Given the description of an element on the screen output the (x, y) to click on. 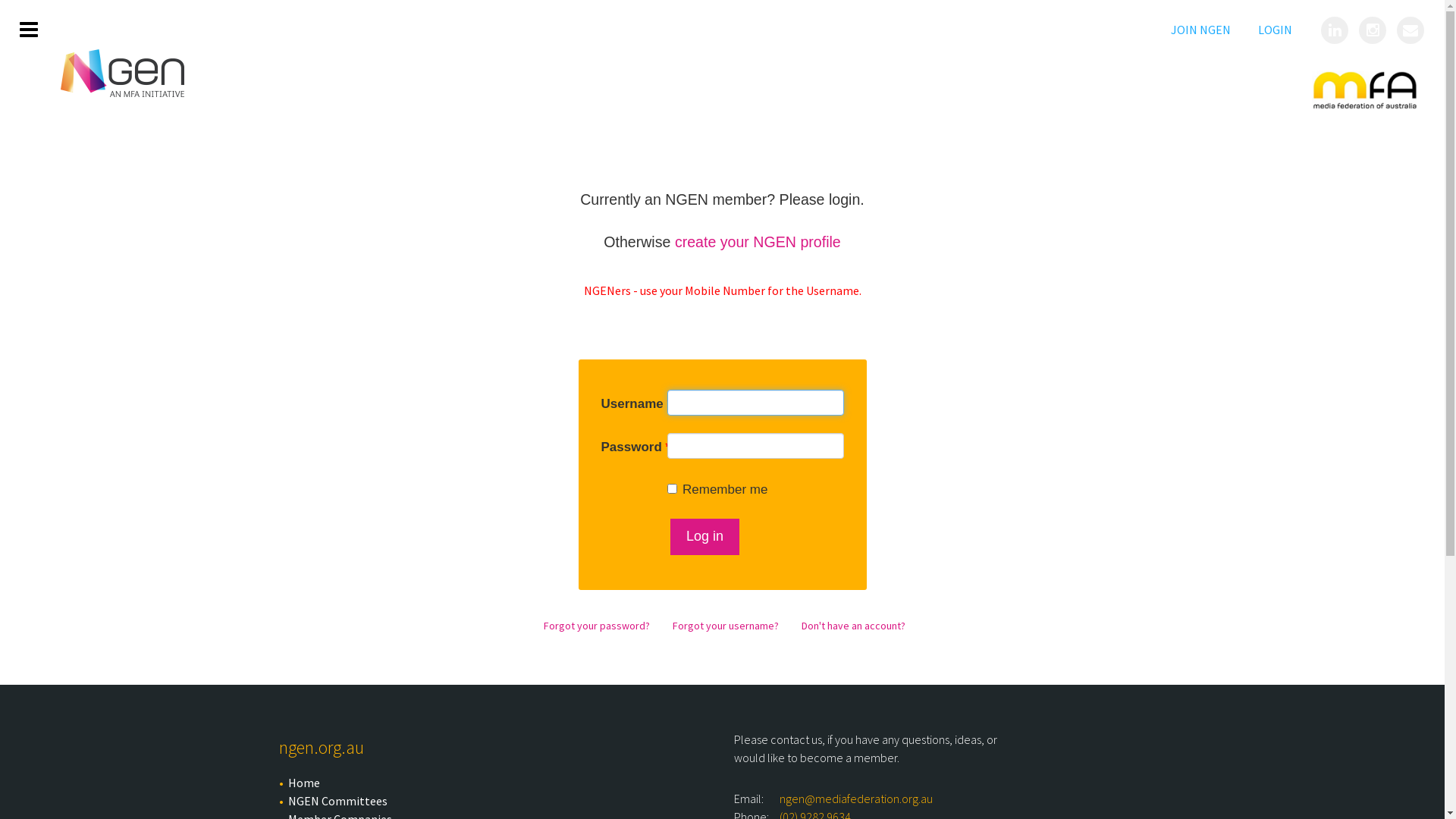
create your NGEN profile Element type: text (757, 241)
NGEN | An MFA Initiative Element type: hover (122, 73)
LINKEDIN Element type: text (1336, 31)
Home Element type: text (499, 782)
Log in Element type: text (704, 536)
Don't have an account? Element type: text (852, 625)
NGEN Committees Element type: text (499, 800)
Forgot your password? Element type: text (595, 625)
EMAIL Element type: text (1411, 31)
Forgot your username? Element type: text (724, 625)
LOGIN Element type: text (1274, 30)
JOIN NGEN Element type: text (1200, 30)
INSTAGRAM Element type: text (1373, 31)
ngen@mediafederation.org.au Element type: text (855, 798)
